Given the description of an element on the screen output the (x, y) to click on. 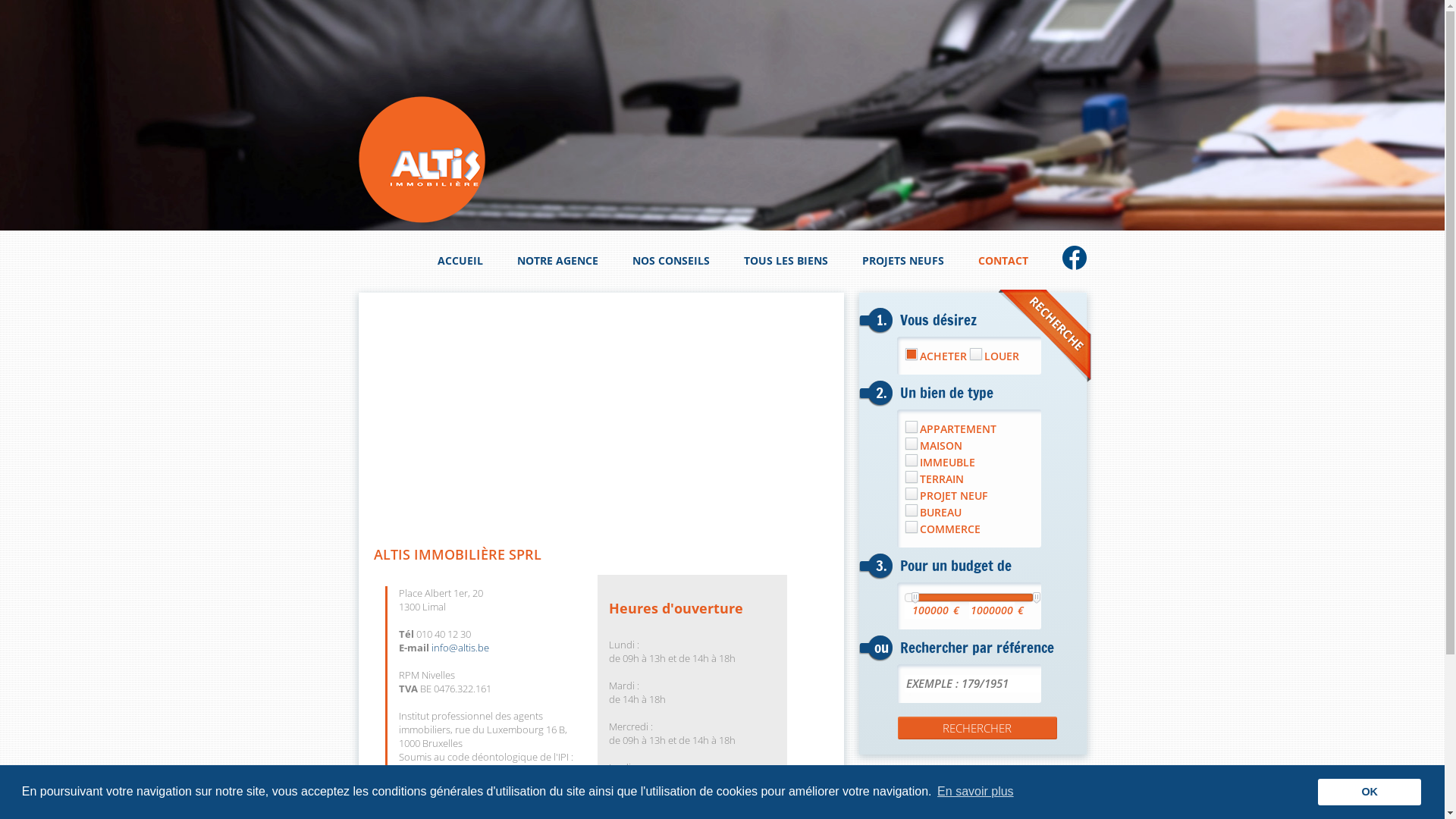
Rechercher Element type: text (977, 727)
NOS CONSEILS Element type: text (670, 260)
FACEBOOK Element type: text (1073, 257)
NOTRE AGENCE Element type: text (557, 260)
PROJETS NEUFS Element type: text (902, 260)
OK Element type: text (1369, 791)
TOUS LES BIENS Element type: text (785, 260)
info@altis.be Element type: text (459, 647)
CONTACT Element type: text (1003, 260)
ACCUEIL Element type: text (459, 260)
www.ipi.be Element type: text (421, 770)
En savoir plus Element type: text (975, 791)
